Given the description of an element on the screen output the (x, y) to click on. 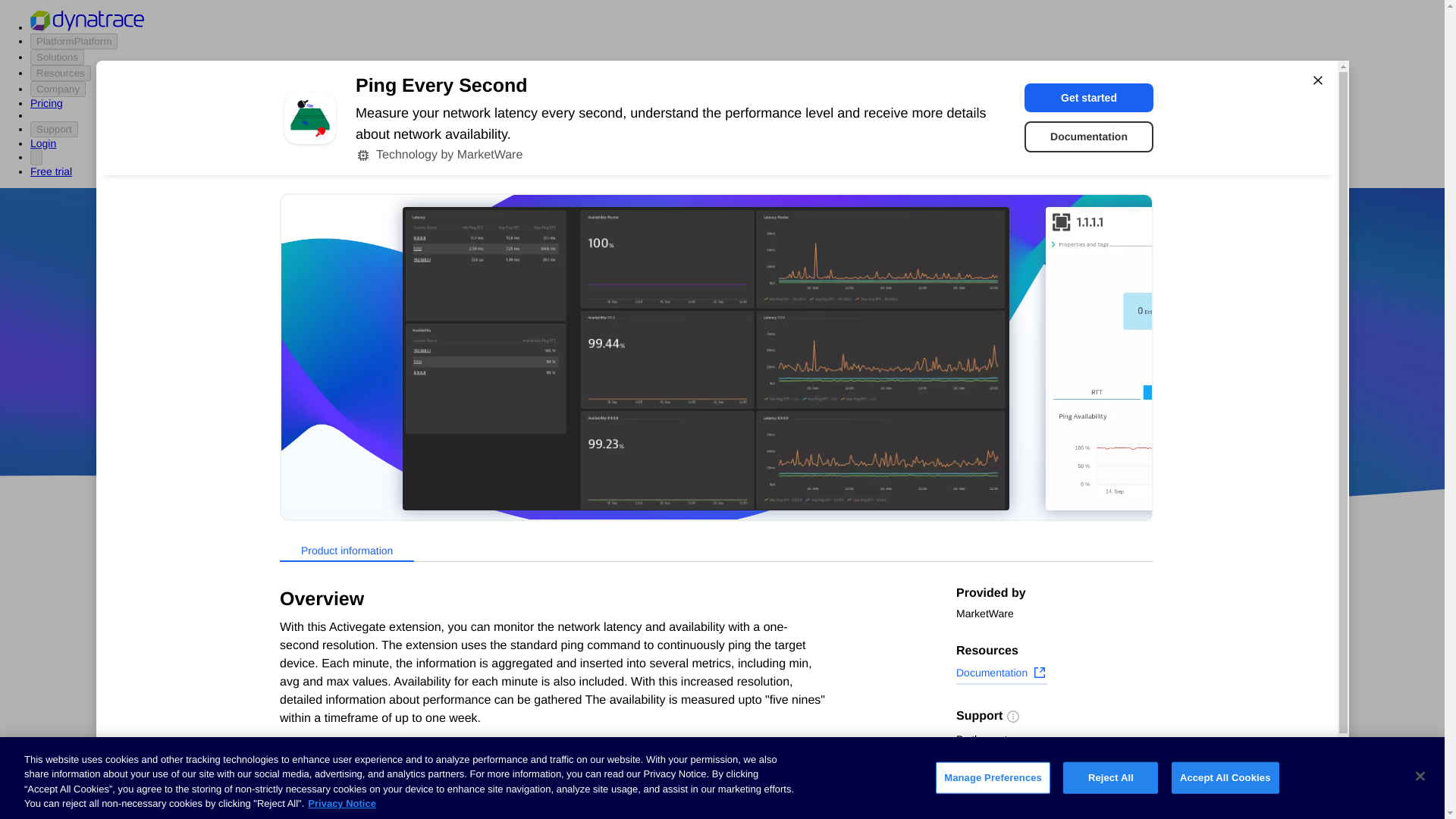
Open source (903, 418)
Kubernetes (295, 755)
Advanced SSL Certificate Check for Dynatrace (606, 722)
Certified Partners (309, 612)
DevOps (829, 418)
Azure (681, 418)
AWS (637, 418)
Build your own app (314, 669)
Hub home (291, 583)
Google Cloud (751, 418)
